Given the description of an element on the screen output the (x, y) to click on. 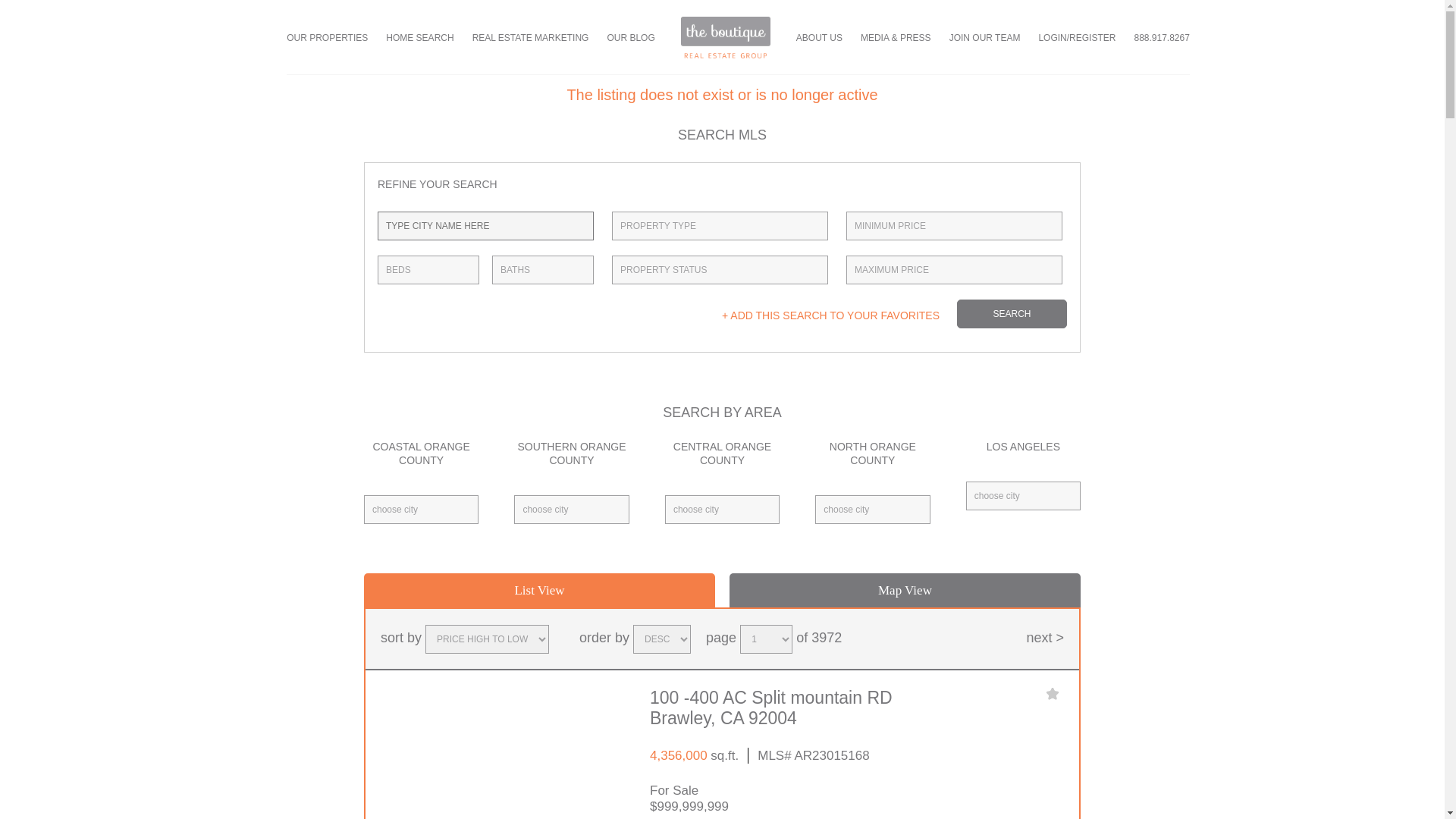
ABOUT US (819, 37)
SEARCH (1011, 313)
OUR PROPERTIES (327, 37)
JOIN OUR TEAM (984, 37)
HOME SEARCH (418, 37)
SEARCH (1011, 313)
REAL ESTATE MARKETING (530, 37)
OUR BLOG (630, 37)
Boutique Real Estate, Orange County (725, 37)
